Given the description of an element on the screen output the (x, y) to click on. 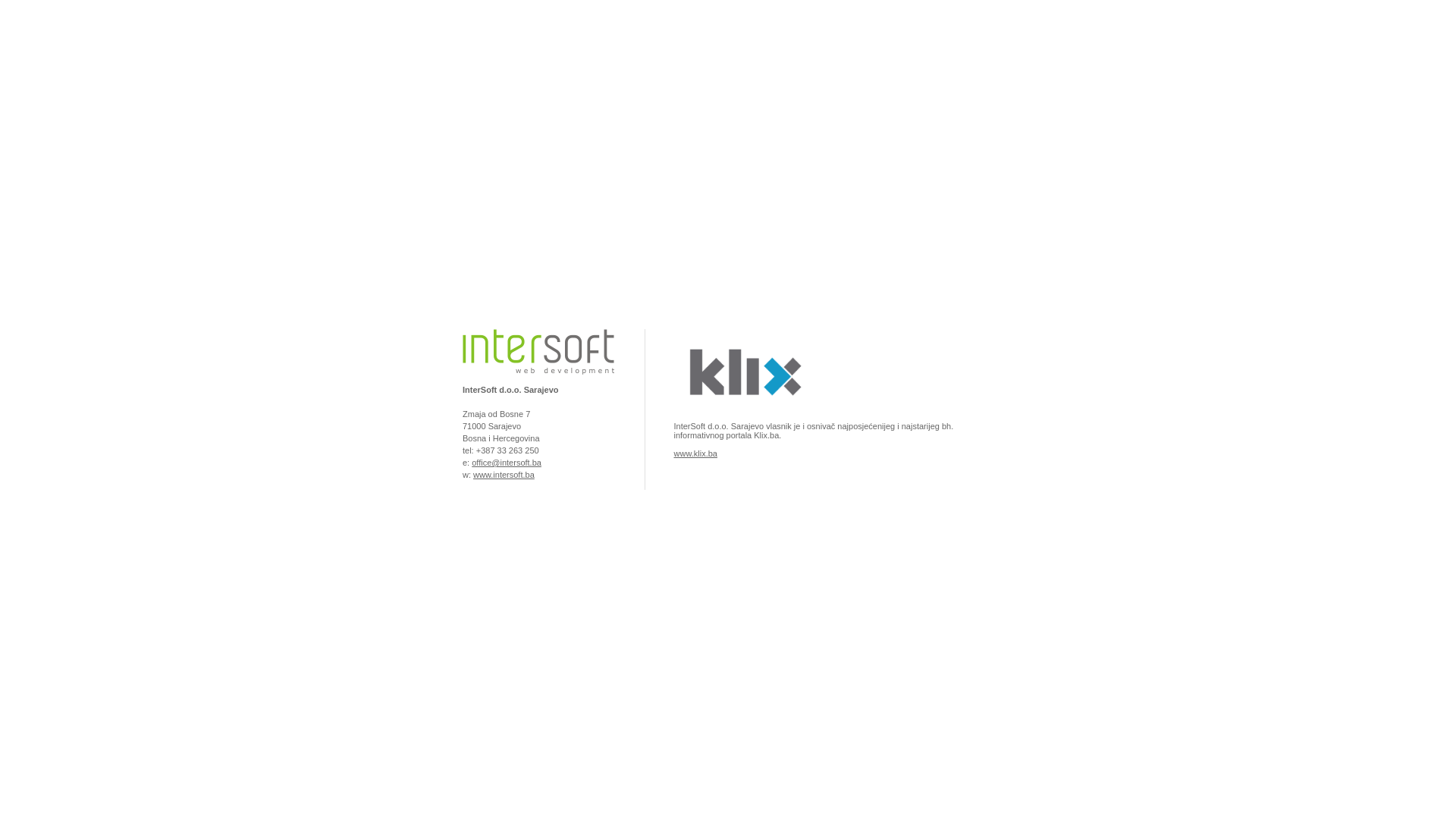
www.klix.ba Element type: text (694, 453)
Klix.ba Element type: hover (743, 412)
office@intersoft.ba Element type: text (506, 462)
www.intersoft.ba Element type: text (503, 474)
